Given the description of an element on the screen output the (x, y) to click on. 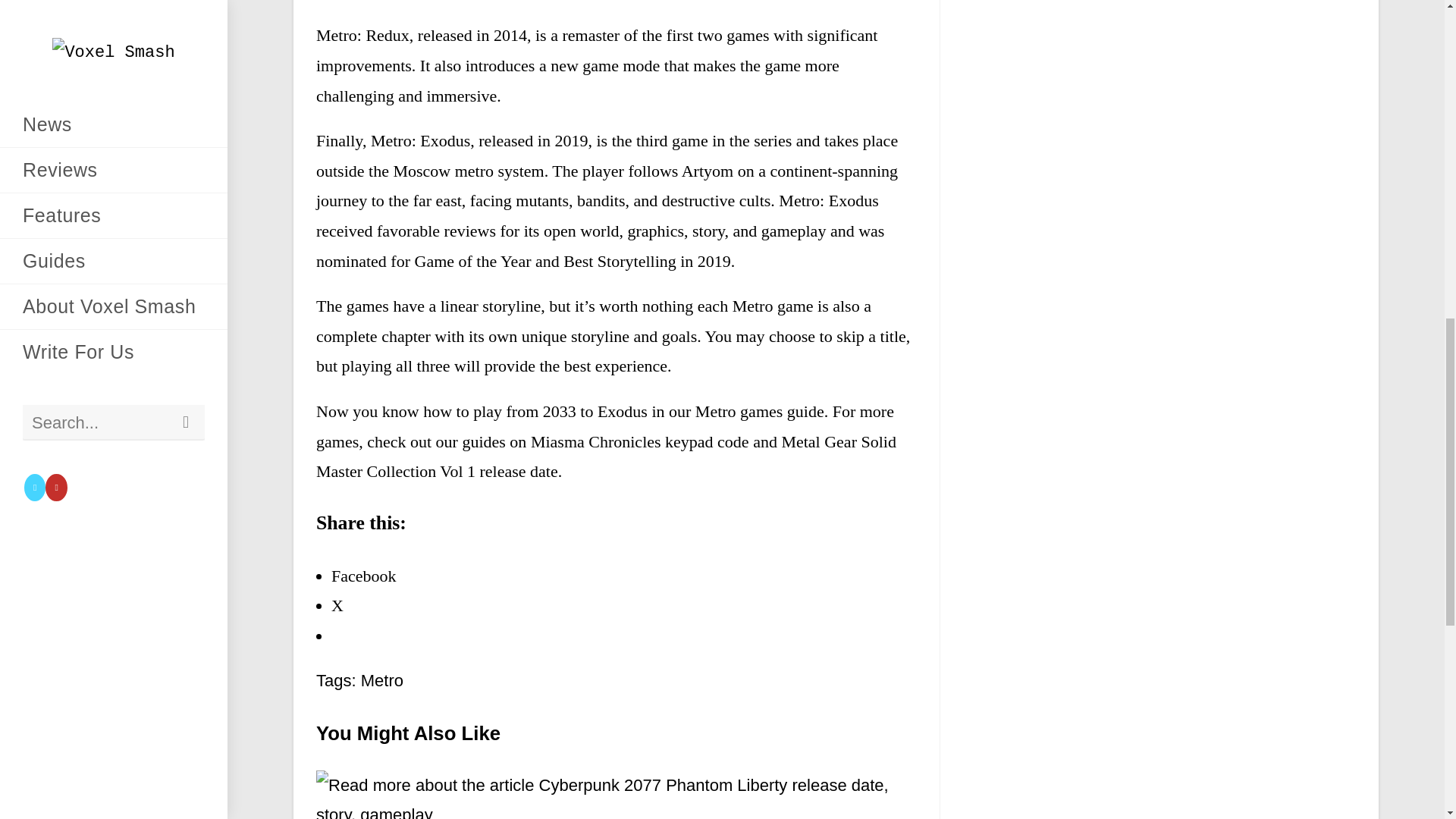
Facebook (363, 575)
Metal Gear Solid Master Collection Vol 1 release date (605, 456)
Click to share on Facebook (363, 575)
Miasma Chronicles keypad code (640, 441)
Metro (382, 680)
